Given the description of an element on the screen output the (x, y) to click on. 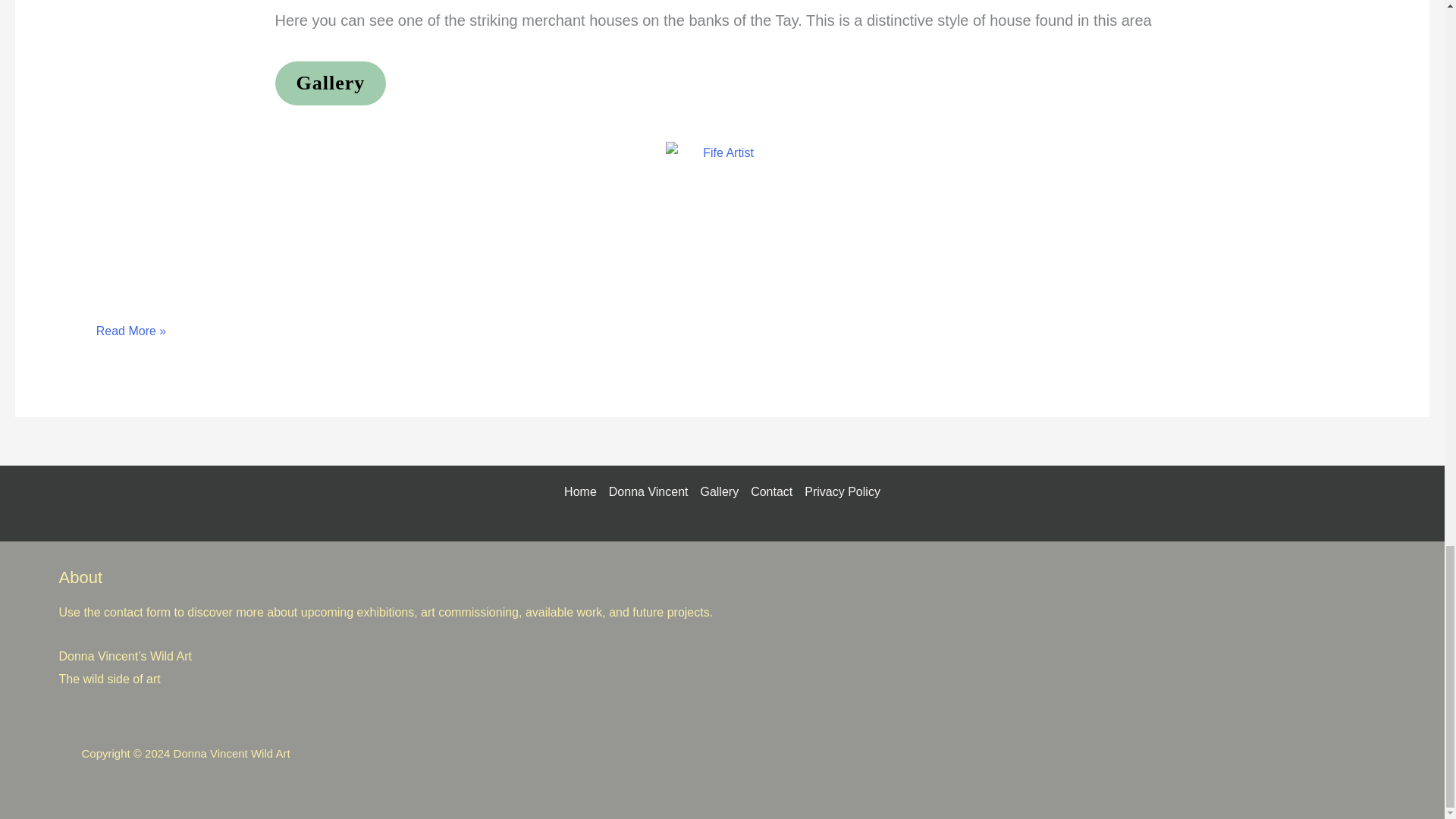
Home (583, 491)
Gallery (719, 491)
Gallery (330, 83)
Donna Vincent (648, 491)
Privacy Policy (838, 491)
Contact (770, 491)
